Given the description of an element on the screen output the (x, y) to click on. 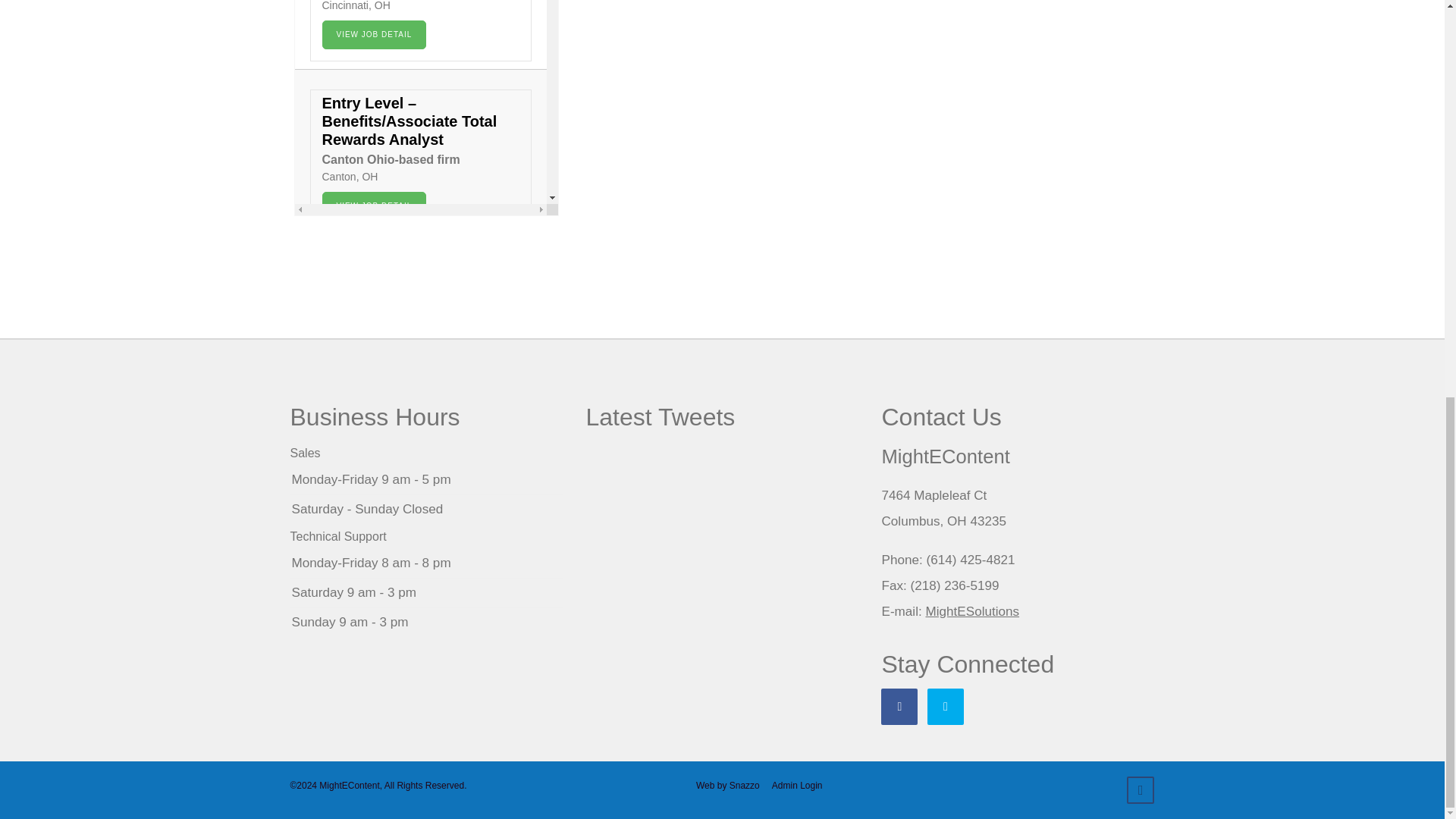
VIEW JOB DETAIL (373, 34)
MightESolutions (971, 611)
VIEW JOB DETAIL (373, 512)
VIEW JOB DETAIL (373, 205)
VIEW JOB DETAIL (373, 358)
